Given the description of an element on the screen output the (x, y) to click on. 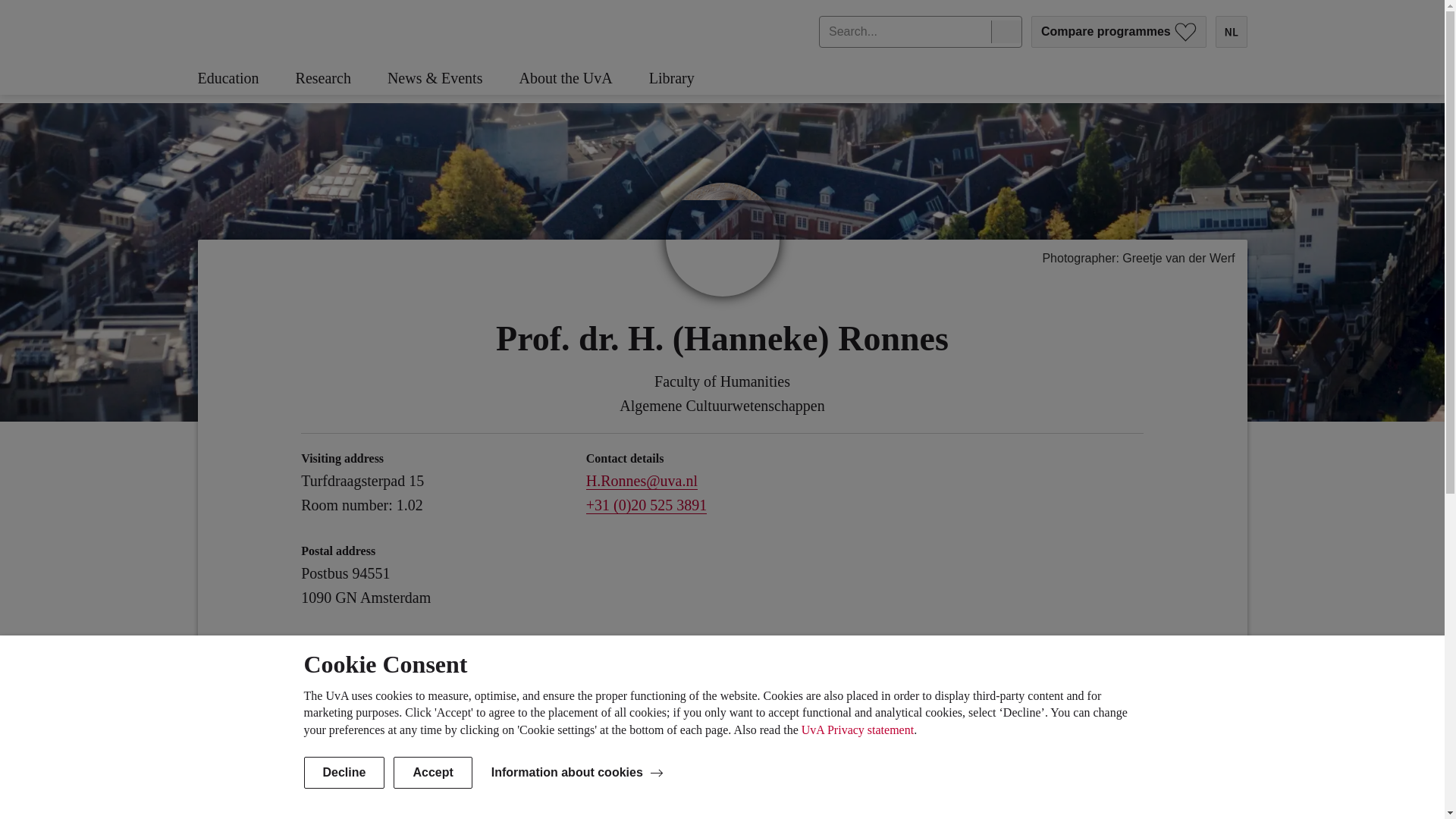
Submit search (1006, 31)
About the UvA (582, 79)
Library (689, 79)
Education (245, 79)
Research (341, 79)
Submit search (1006, 31)
Submit search (1006, 31)
Compare programmes (1118, 31)
